Given the description of an element on the screen output the (x, y) to click on. 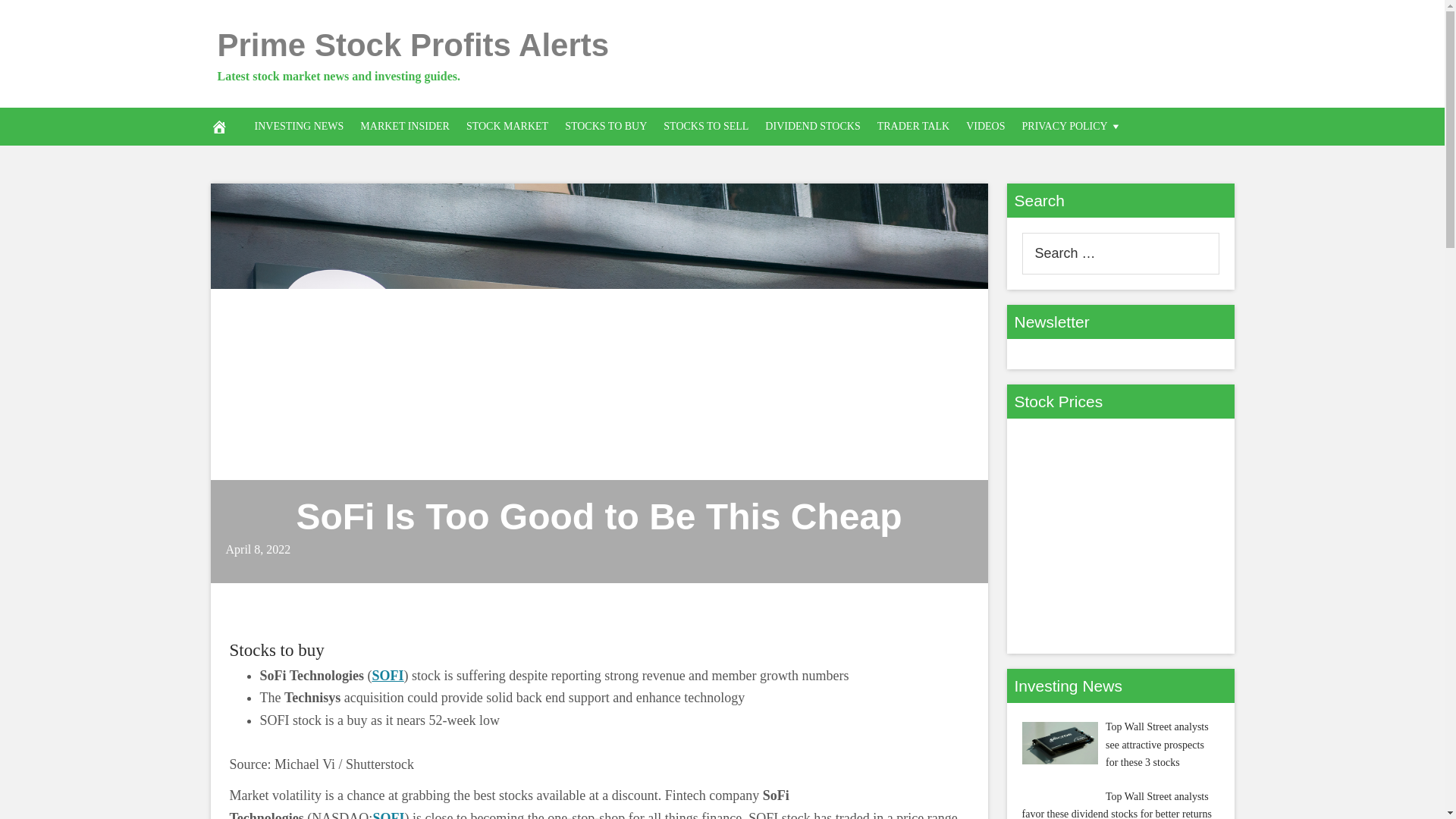
MARKET INSIDER (405, 126)
SOFI (388, 674)
DIVIDEND STOCKS (812, 126)
TRADER TALK (913, 126)
INVESTING NEWS (299, 126)
STOCK MARKET (507, 126)
SOFI (388, 814)
PRIVACY POLICY (1072, 126)
STOCKS TO SELL (706, 126)
